Given the description of an element on the screen output the (x, y) to click on. 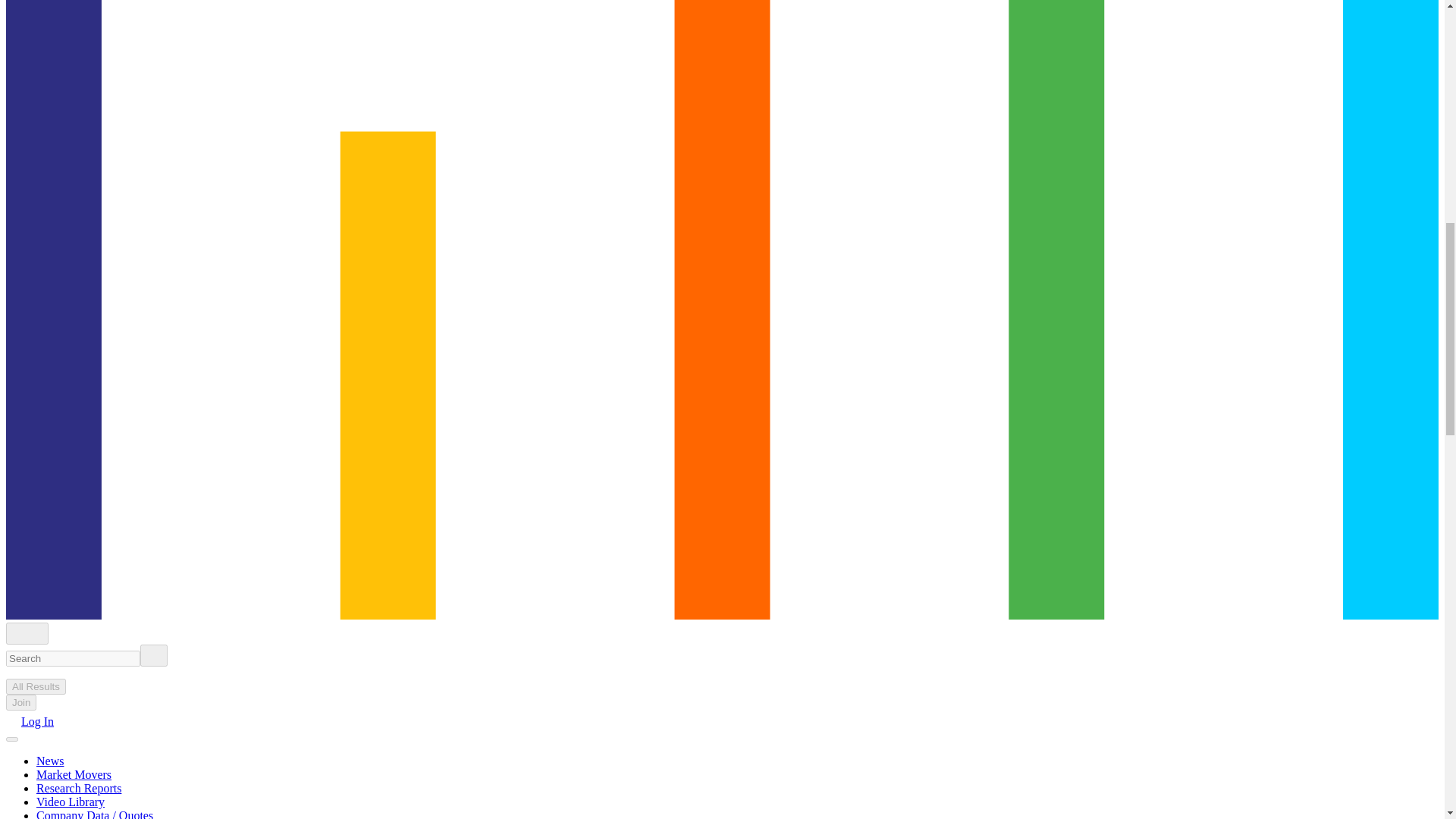
All Results (35, 686)
Research Reports (78, 788)
Video Library (70, 801)
News (50, 760)
Log In (29, 721)
Market Movers (74, 774)
Join (20, 702)
